Given the description of an element on the screen output the (x, y) to click on. 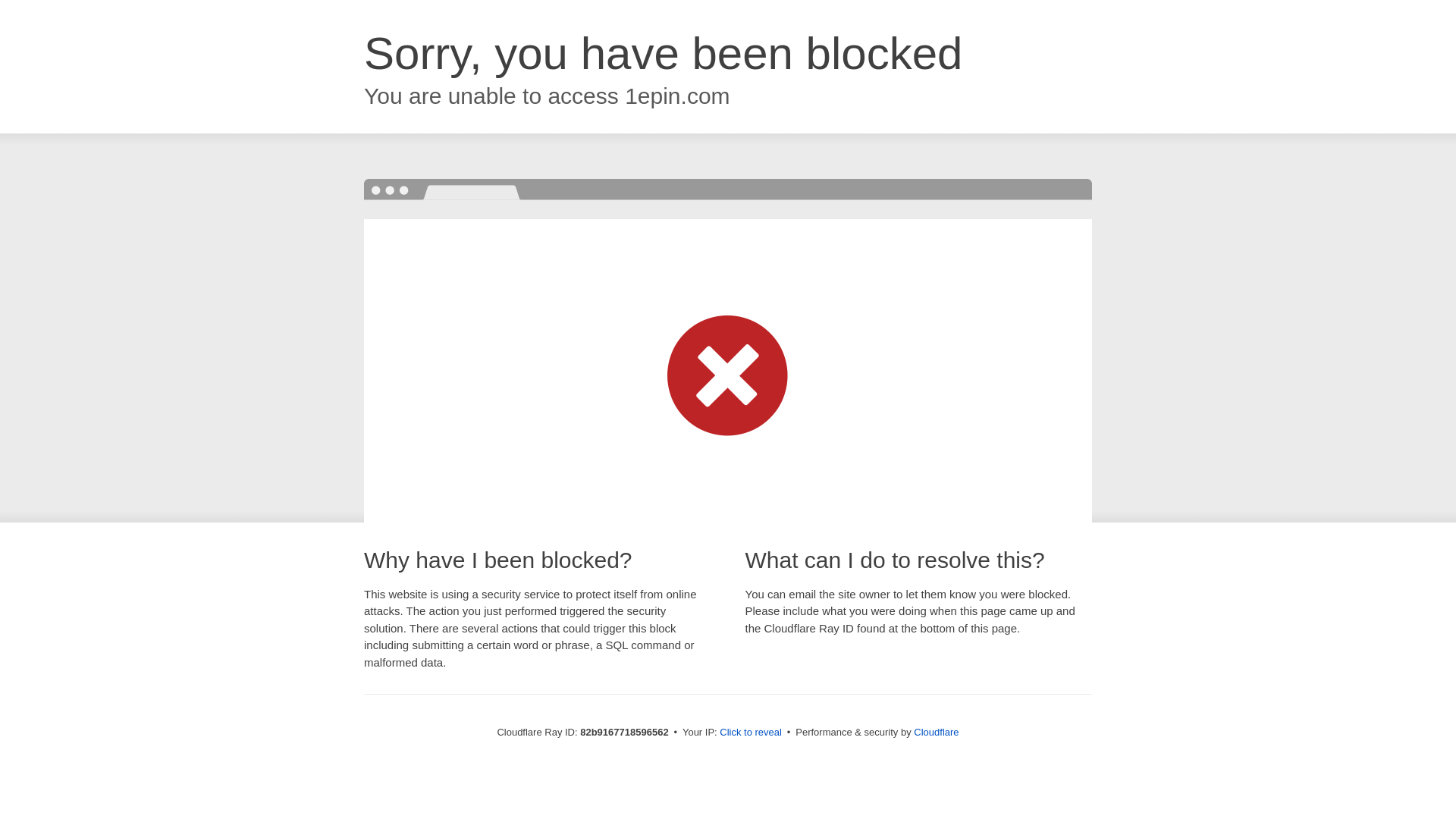
Cloudflare Element type: text (935, 731)
Click to reveal Element type: text (750, 732)
